Given the description of an element on the screen output the (x, y) to click on. 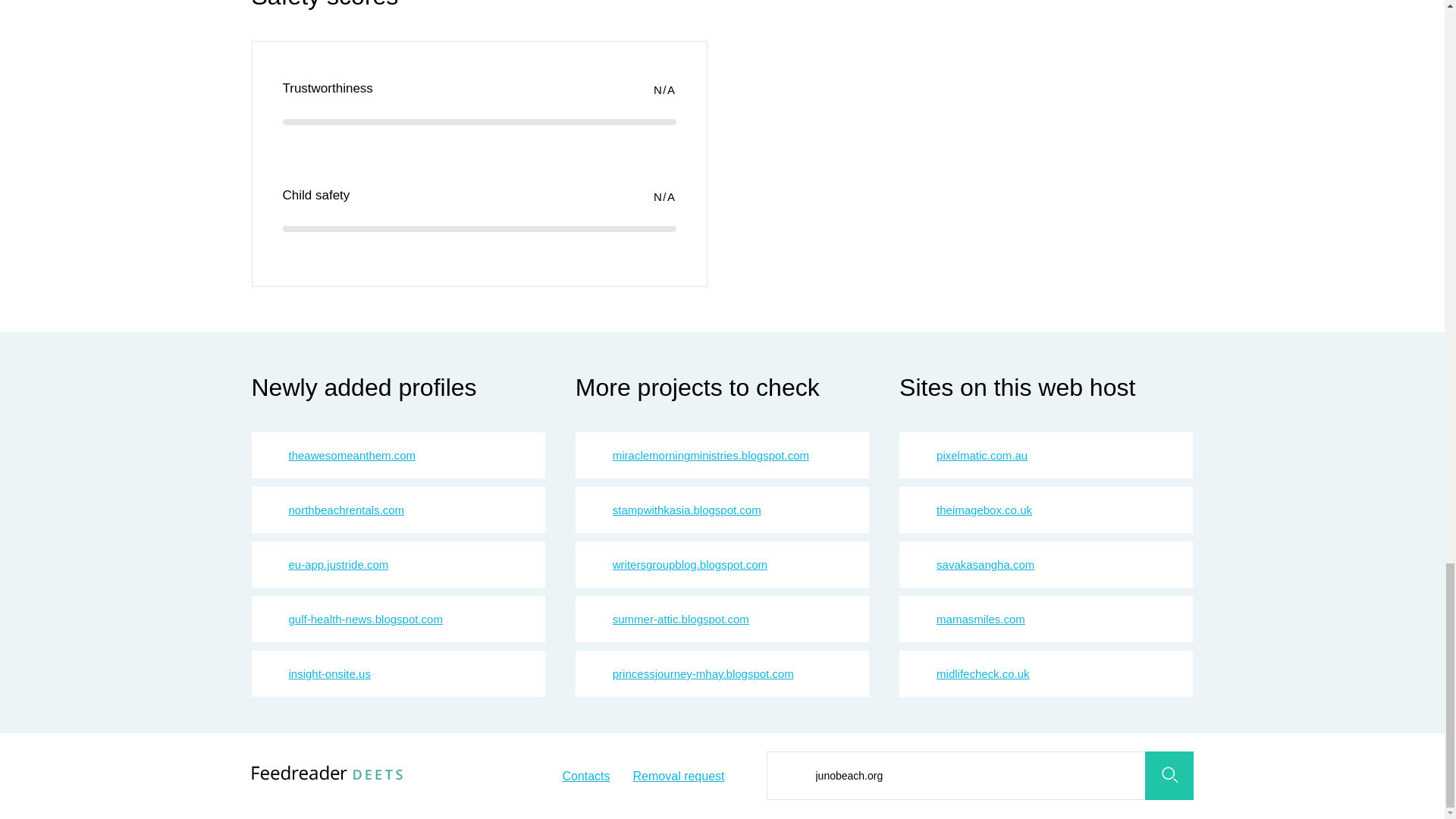
theimagebox.co.uk (984, 509)
gulf-health-news.blogspot.com (365, 618)
writersgroupblog.blogspot.com (689, 563)
Contacts (586, 775)
insight-onsite.us (328, 673)
summer-attic.blogspot.com (680, 618)
midlifecheck.co.uk (982, 673)
theawesomeanthem.com (351, 454)
stampwithkasia.blogspot.com (686, 509)
savakasangha.com (984, 563)
princessjourney-mhay.blogspot.com (702, 673)
northbeachrentals.com (346, 509)
Removal request (679, 775)
junobeach.org (978, 775)
pixelmatic.com.au (981, 454)
